Given the description of an element on the screen output the (x, y) to click on. 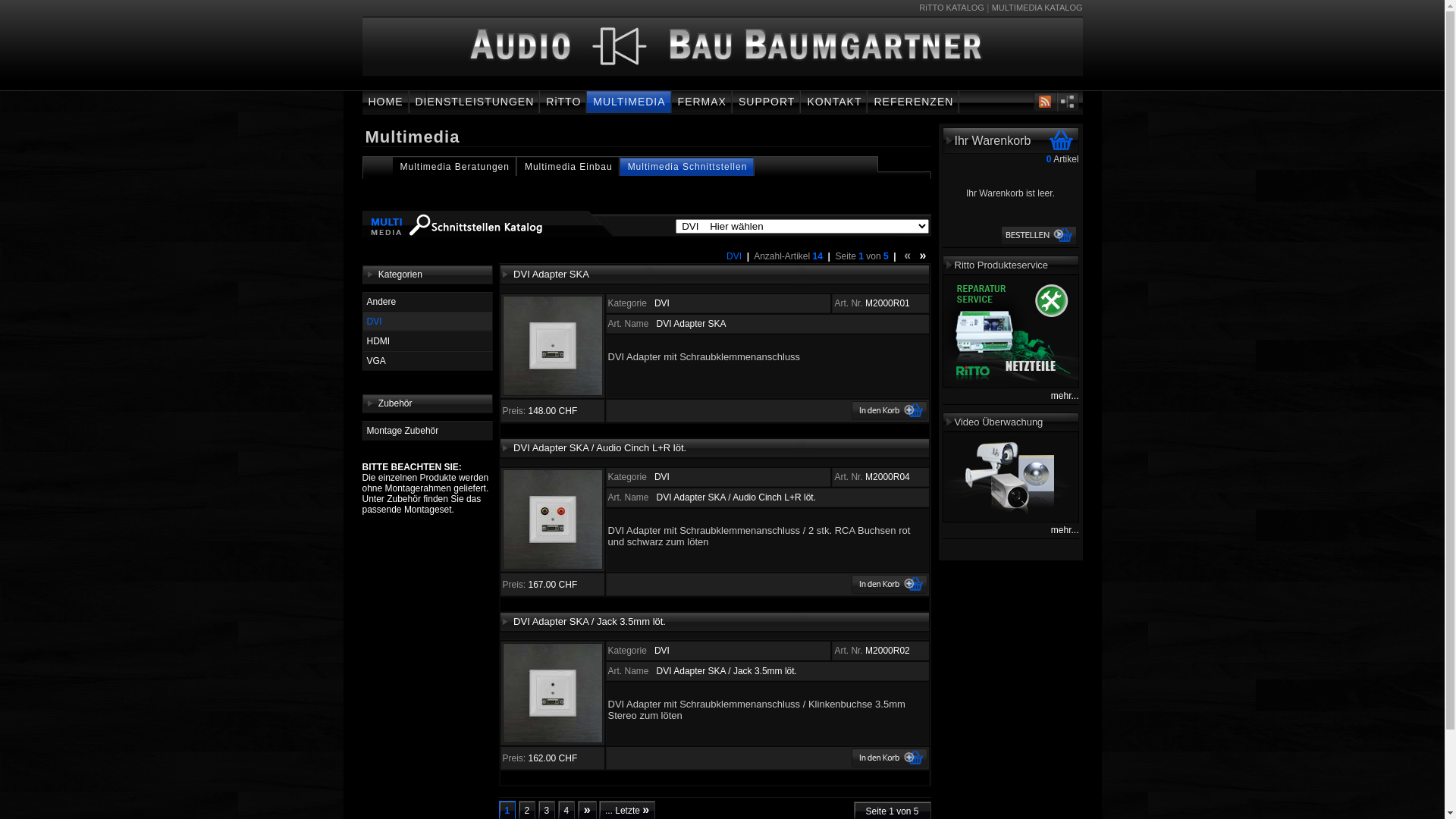
Multimedia Einbau Element type: text (568, 166)
HDMI Element type: text (427, 341)
MULTIMEDIA KATALOG Element type: text (1036, 7)
Ritto Produkteservice Element type: text (1000, 264)
Multimedia Schnittstellen Element type: text (687, 166)
HOME Element type: text (385, 101)
DVI Element type: text (427, 321)
mehr... Element type: text (1065, 395)
KONTAKT Element type: text (833, 101)
RiTTO Element type: text (562, 101)
SUPPORT Element type: text (766, 101)
MULTIMEDIA Element type: text (628, 101)
Multimedia Beratungen Element type: text (454, 166)
RiTTO KATALOG Element type: text (951, 7)
Andere Element type: text (427, 301)
REFERENZEN Element type: text (913, 101)
FERMAX Element type: text (701, 101)
mehr... Element type: text (1065, 529)
DIENSTLEISTUNGEN Element type: text (474, 101)
VGA Element type: text (427, 360)
Ihr Warenkorb Element type: text (991, 140)
